Given the description of an element on the screen output the (x, y) to click on. 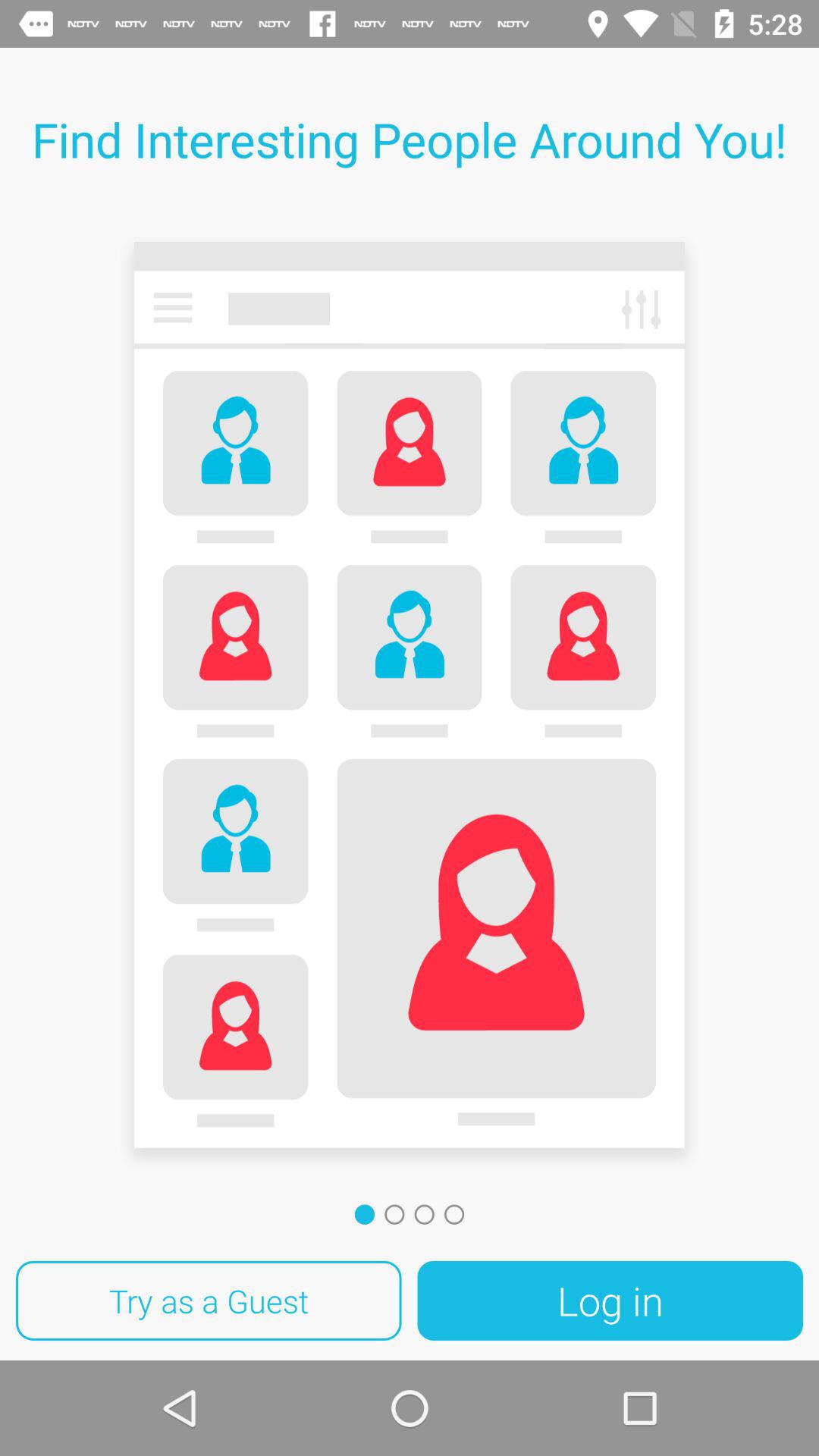
open icon below the find interesting people (409, 700)
